Given the description of an element on the screen output the (x, y) to click on. 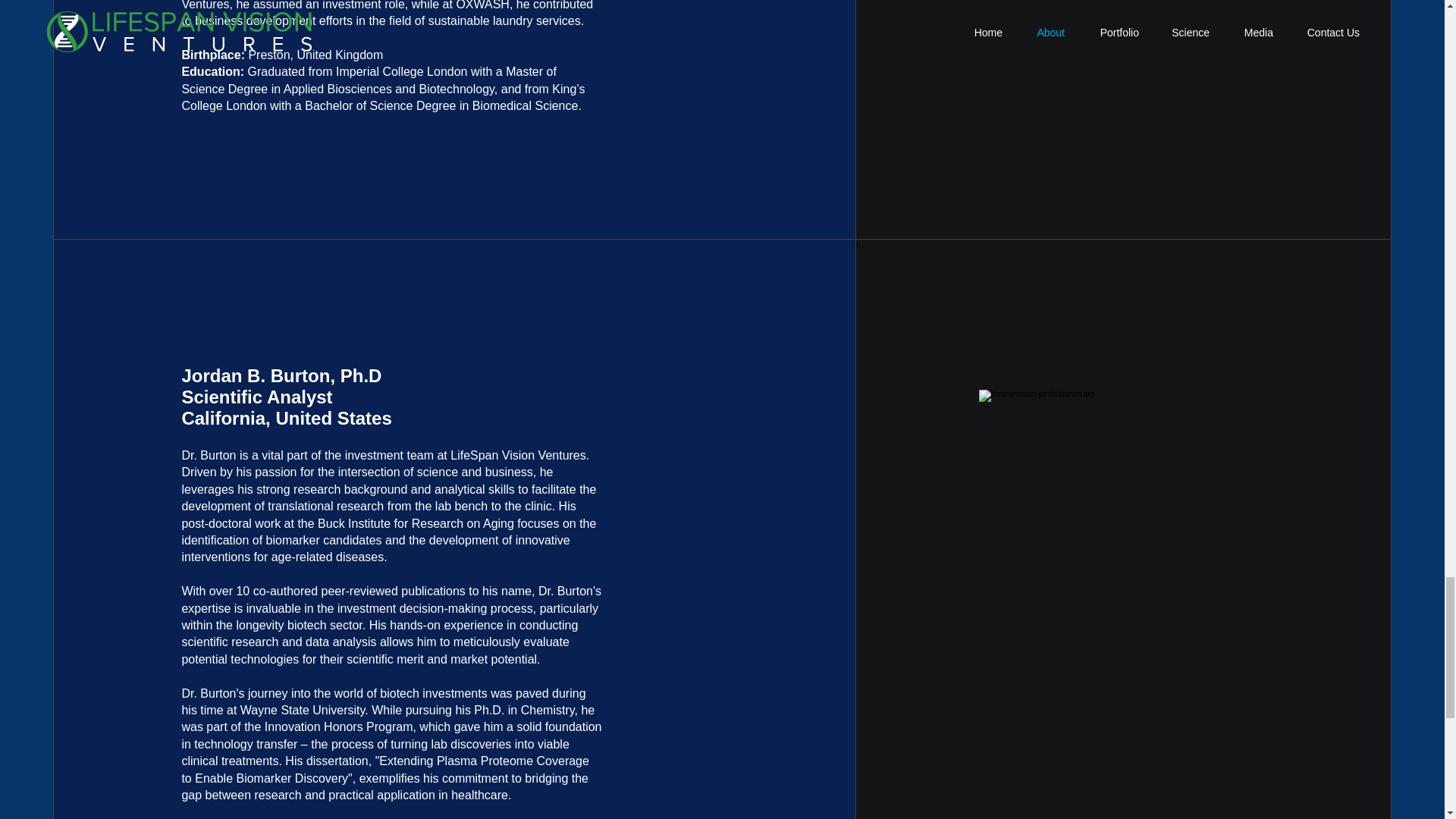
Harry Robb.jpg (1122, 588)
Harry Robb.jpg (1122, 49)
